Given the description of an element on the screen output the (x, y) to click on. 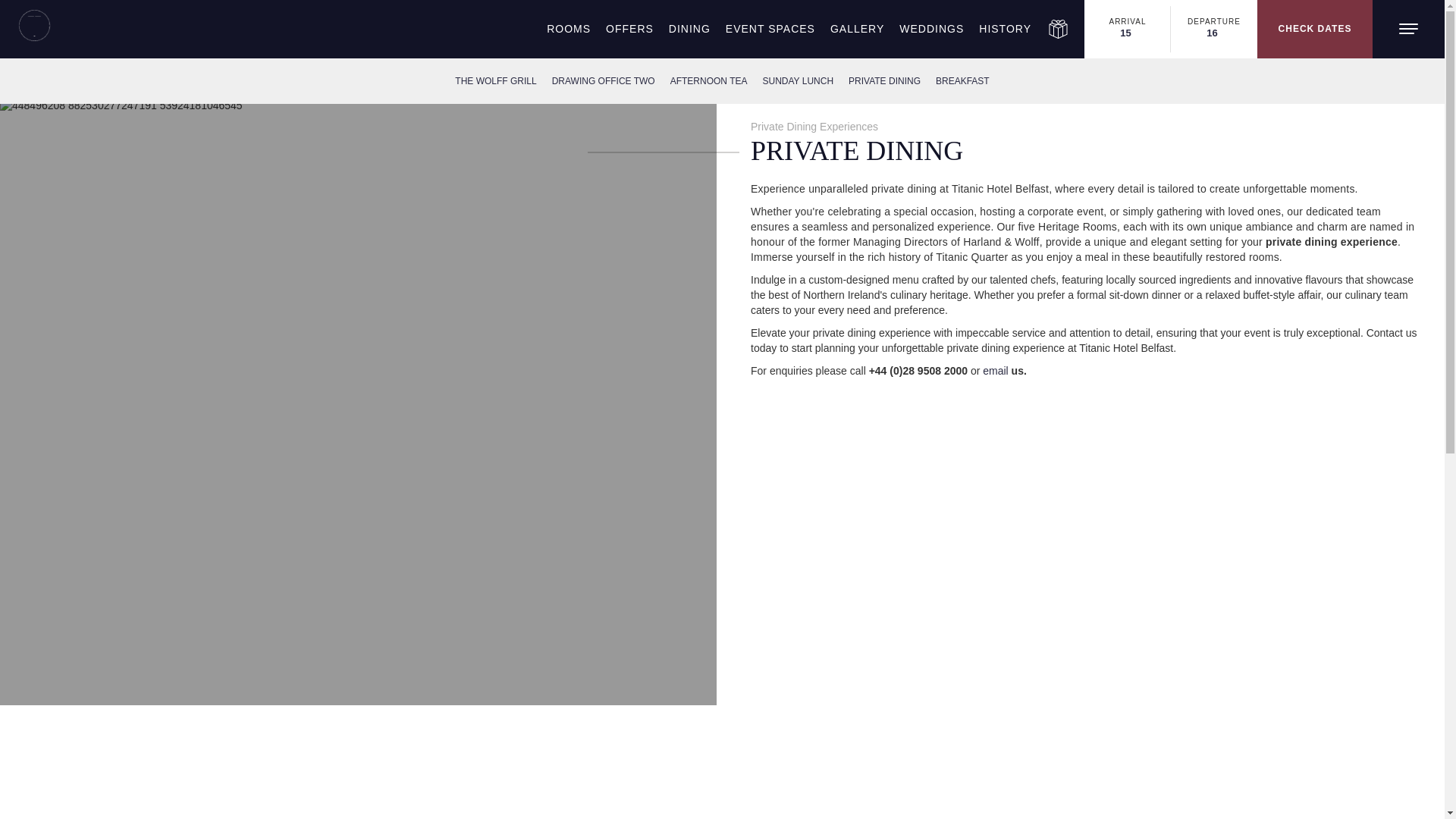
DINING (689, 29)
EVENT SPACES (769, 29)
GALLERY (856, 29)
OFFERS (629, 29)
WEDDINGS (931, 29)
ROOMS (568, 29)
HISTORY (1005, 29)
